Given the description of an element on the screen output the (x, y) to click on. 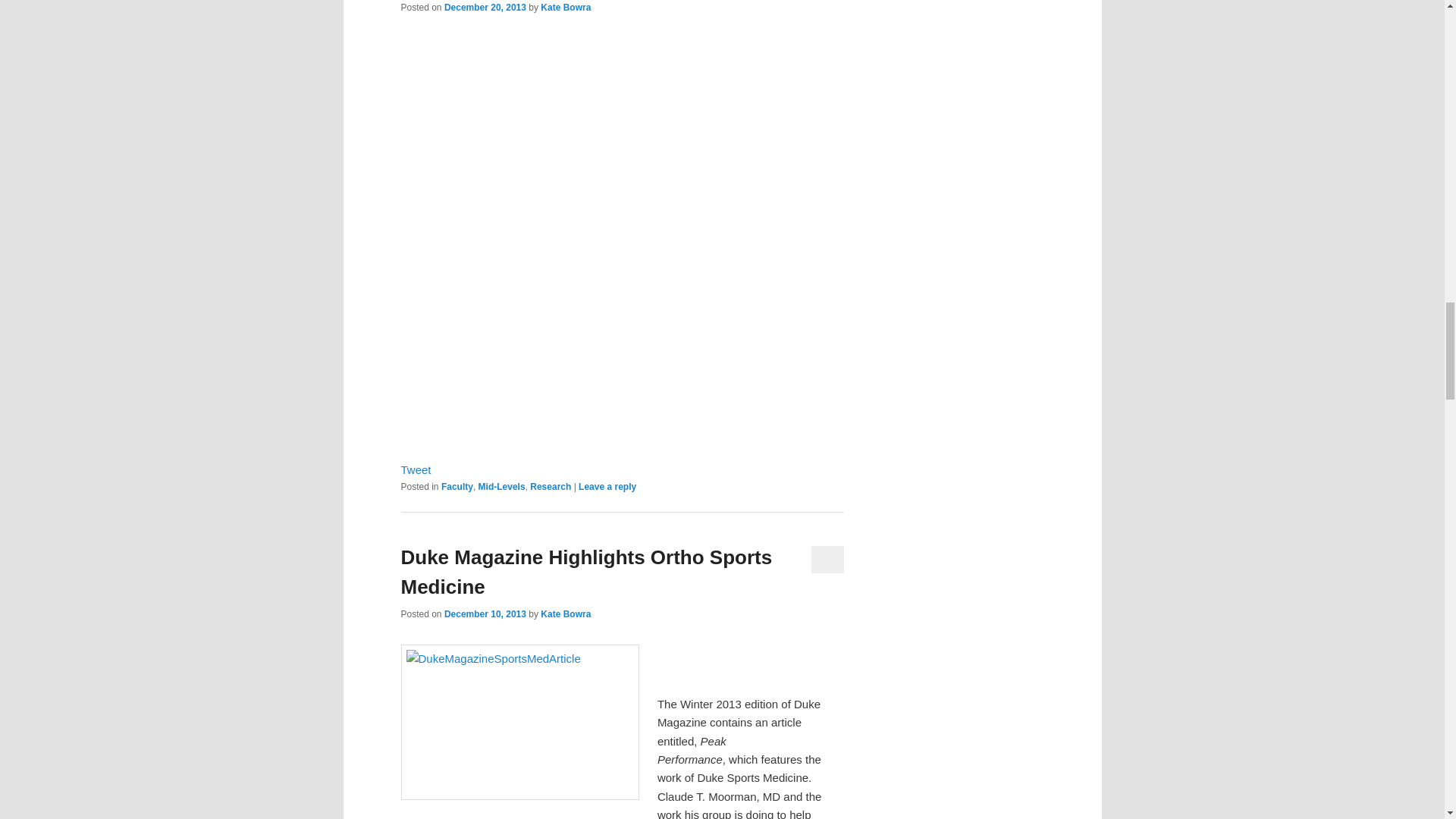
View all posts by Kate Bowra (565, 614)
2:35 pm (484, 7)
11:13 am (484, 614)
View all posts by Kate Bowra (565, 7)
